Given the description of an element on the screen output the (x, y) to click on. 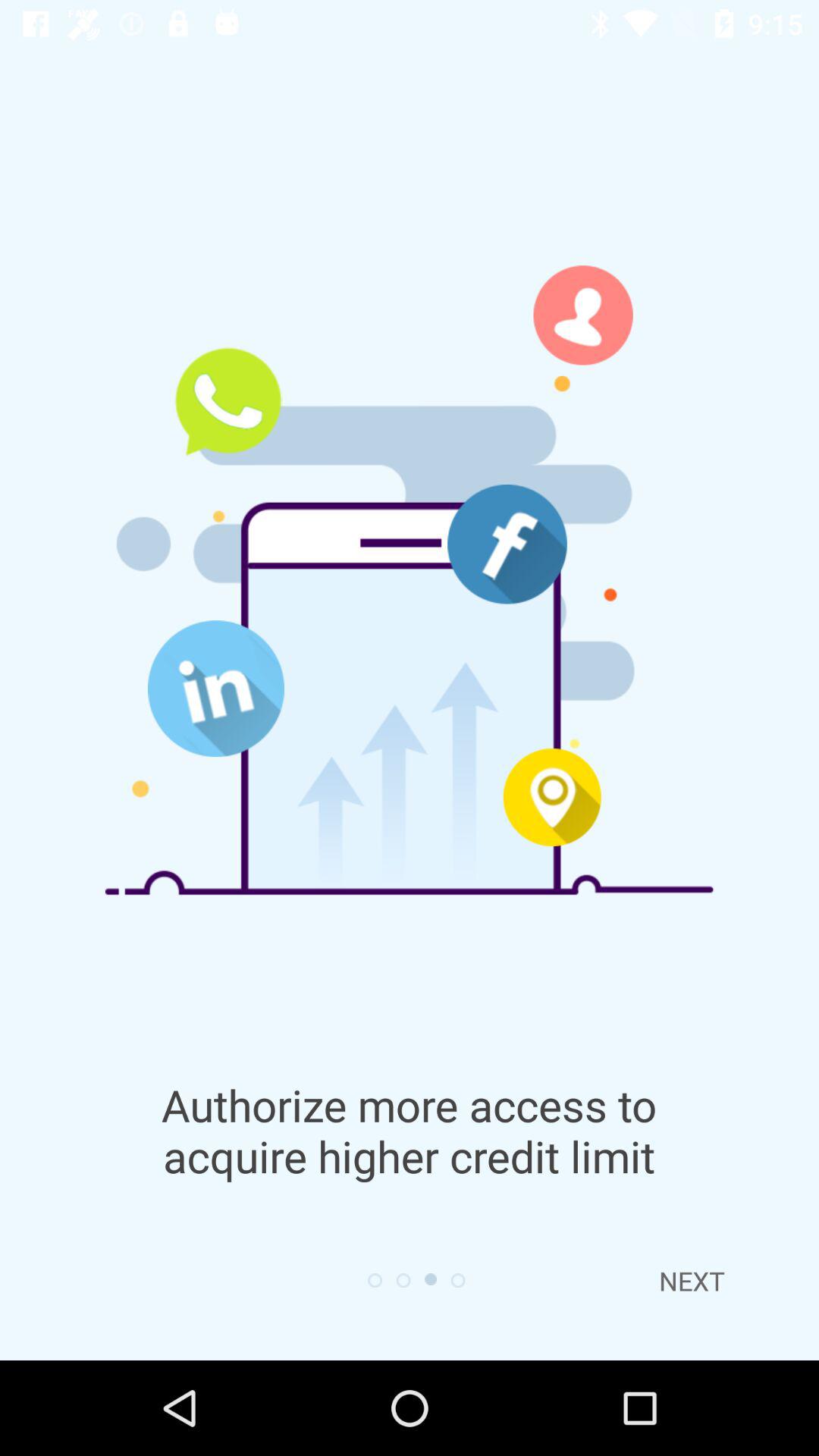
open the next item (691, 1280)
